Given the description of an element on the screen output the (x, y) to click on. 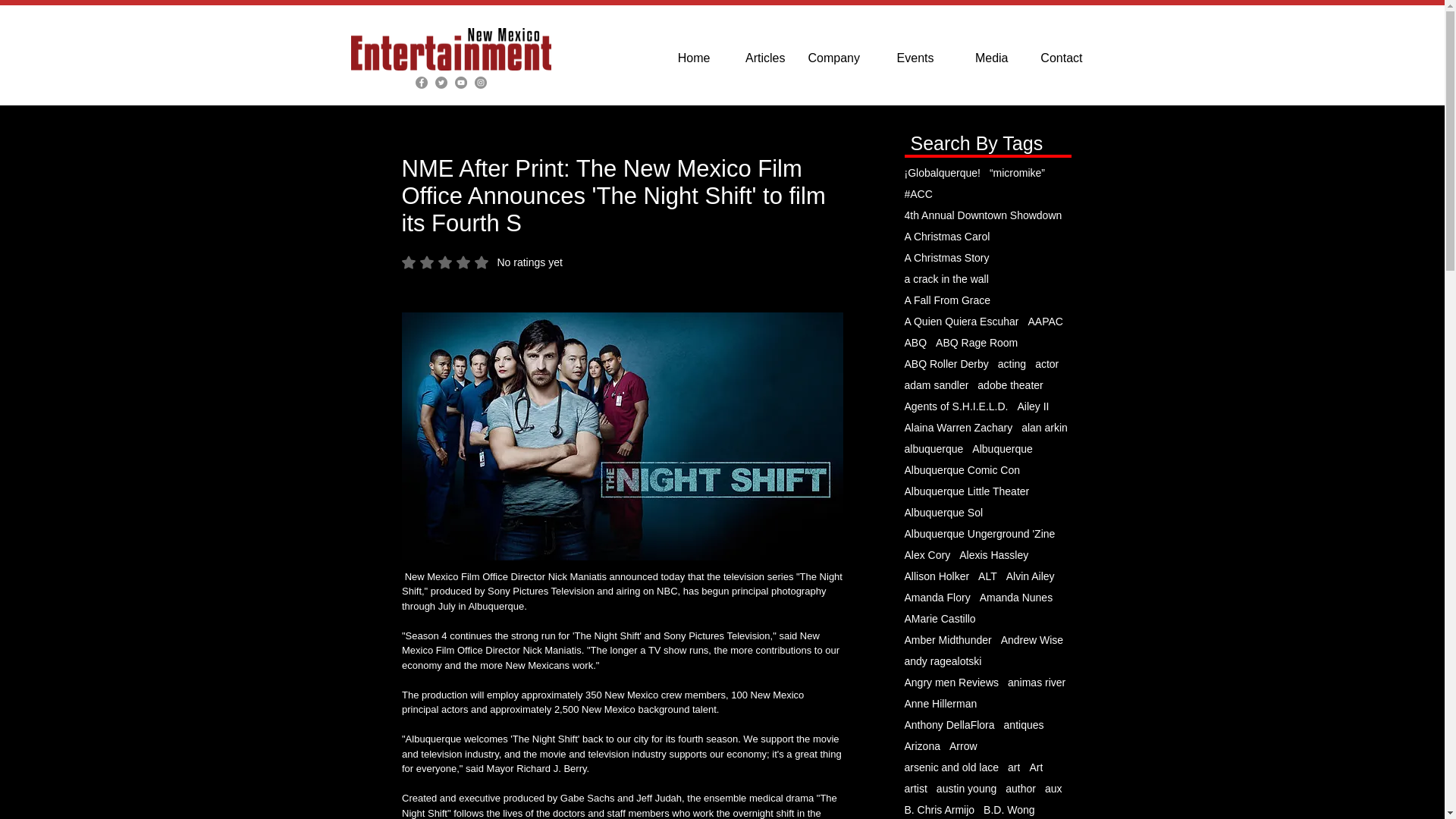
A Fall From Grace (947, 300)
a crack in the wall (946, 278)
Events (907, 57)
A Christmas Carol (947, 236)
Articles (759, 57)
Contact (1056, 57)
Media (981, 57)
Home (683, 57)
A Christmas Story (946, 257)
4th Annual Downtown Showdown (481, 262)
